Given the description of an element on the screen output the (x, y) to click on. 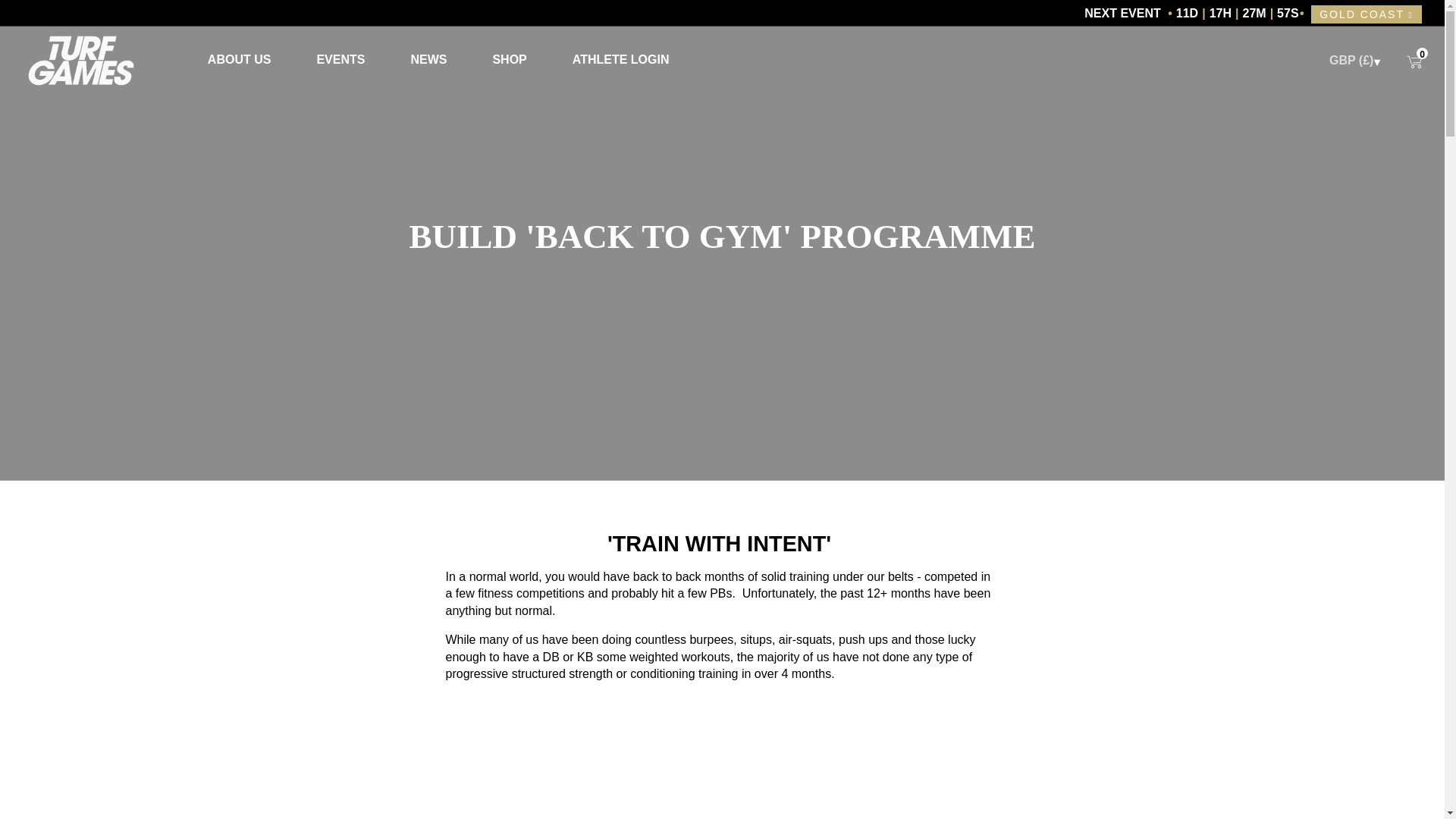
ABOUT US (239, 60)
EVENTS (340, 60)
GOLD COAST (1366, 13)
